Given the description of an element on the screen output the (x, y) to click on. 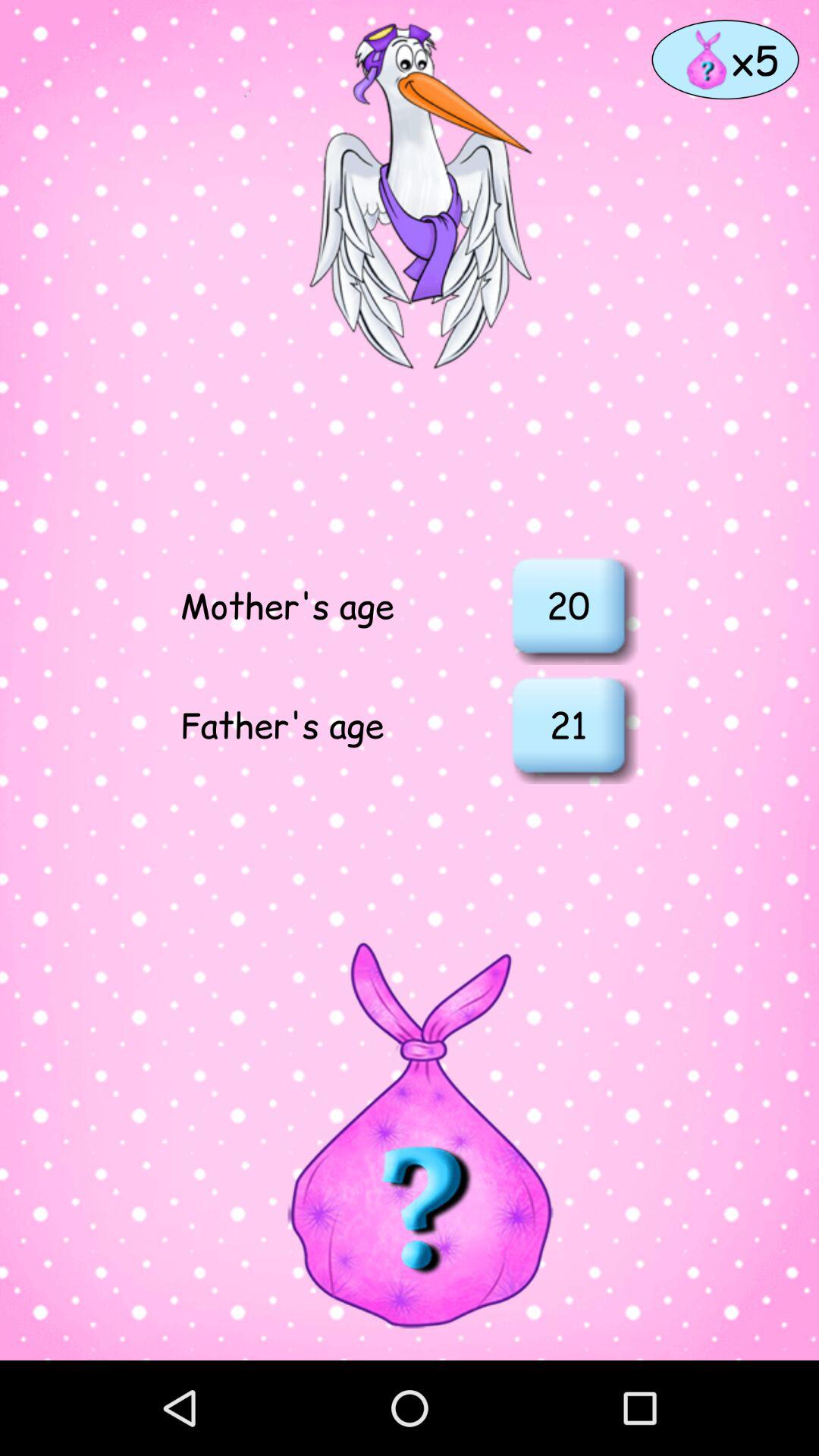
press icon to the right of the mother's age item (568, 604)
